Given the description of an element on the screen output the (x, y) to click on. 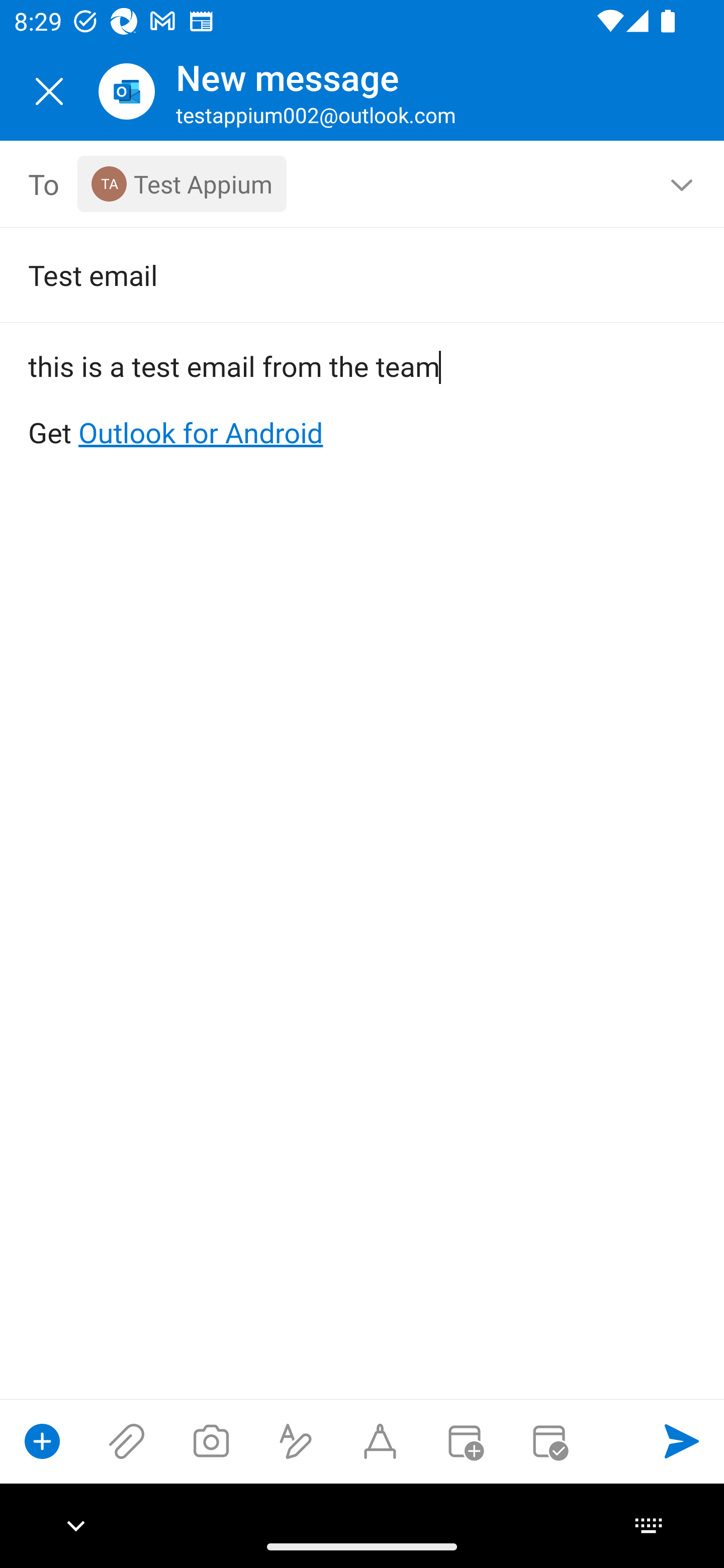
Close (49, 91)
Test email (333, 274)
Show compose options (42, 1440)
Attach files (126, 1440)
Take a photo (210, 1440)
Show formatting options (295, 1440)
Start Ink compose (380, 1440)
Convert to event (464, 1440)
Send availability (548, 1440)
Send (681, 1440)
